Given the description of an element on the screen output the (x, y) to click on. 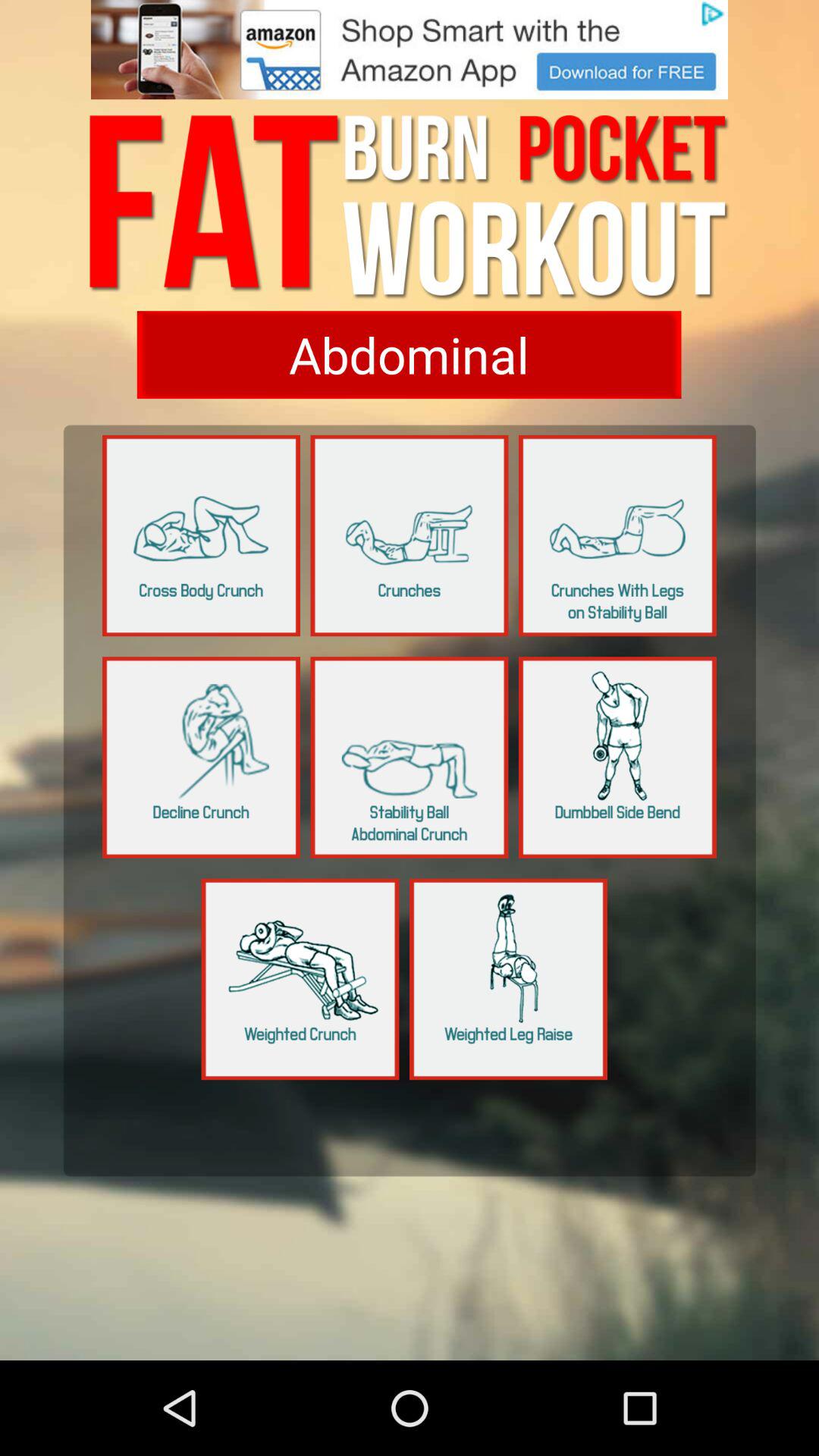
click exercise box weighted crunch (300, 979)
